Given the description of an element on the screen output the (x, y) to click on. 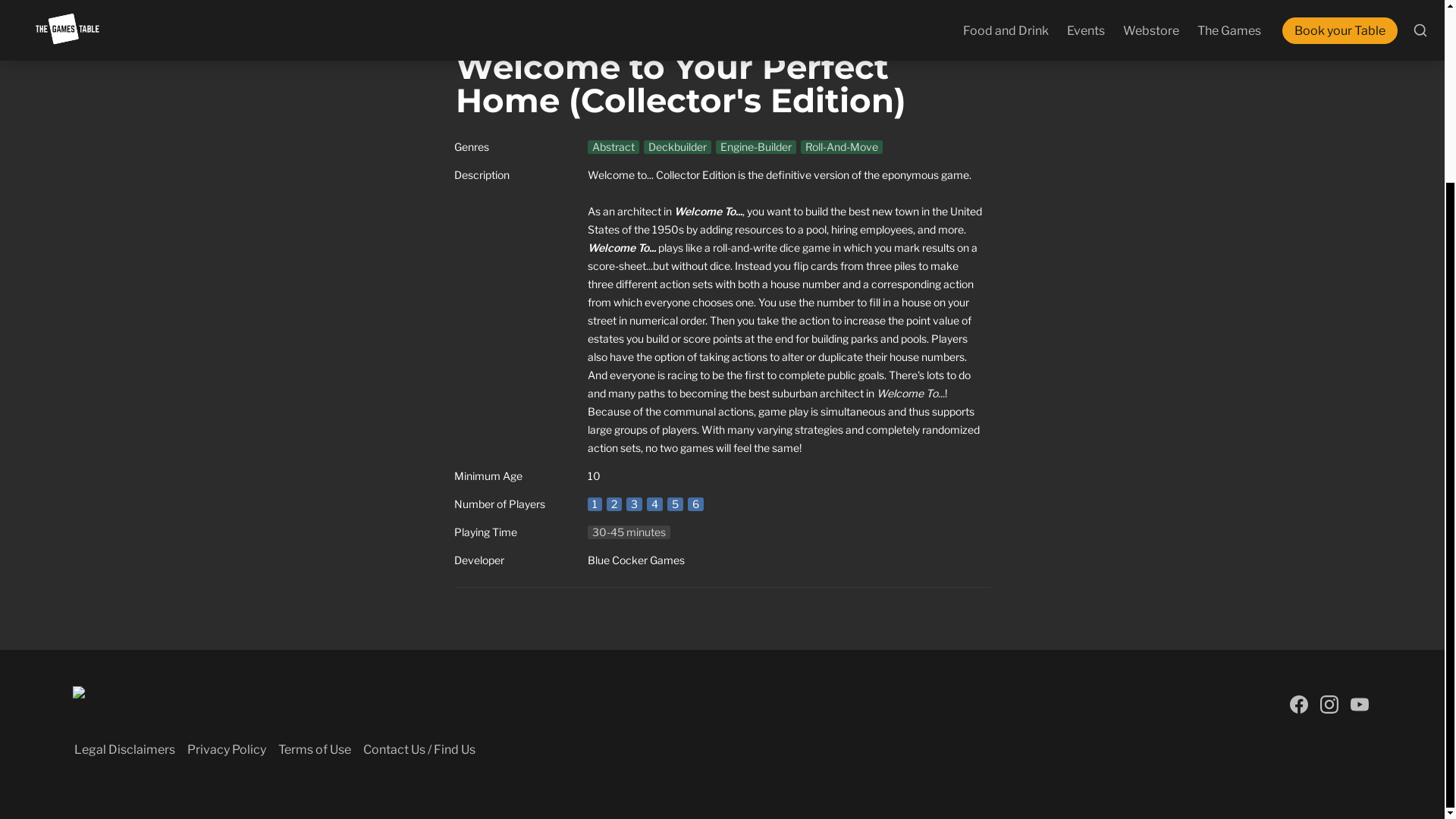
YouTube (1359, 704)
Terms of Use (314, 749)
Facebook (1298, 704)
Instagram (1329, 704)
YouTube (1359, 704)
Facebook (1298, 704)
Legal Disclaimers (124, 749)
Privacy Policy (226, 749)
Instagram (1329, 704)
